Given the description of an element on the screen output the (x, y) to click on. 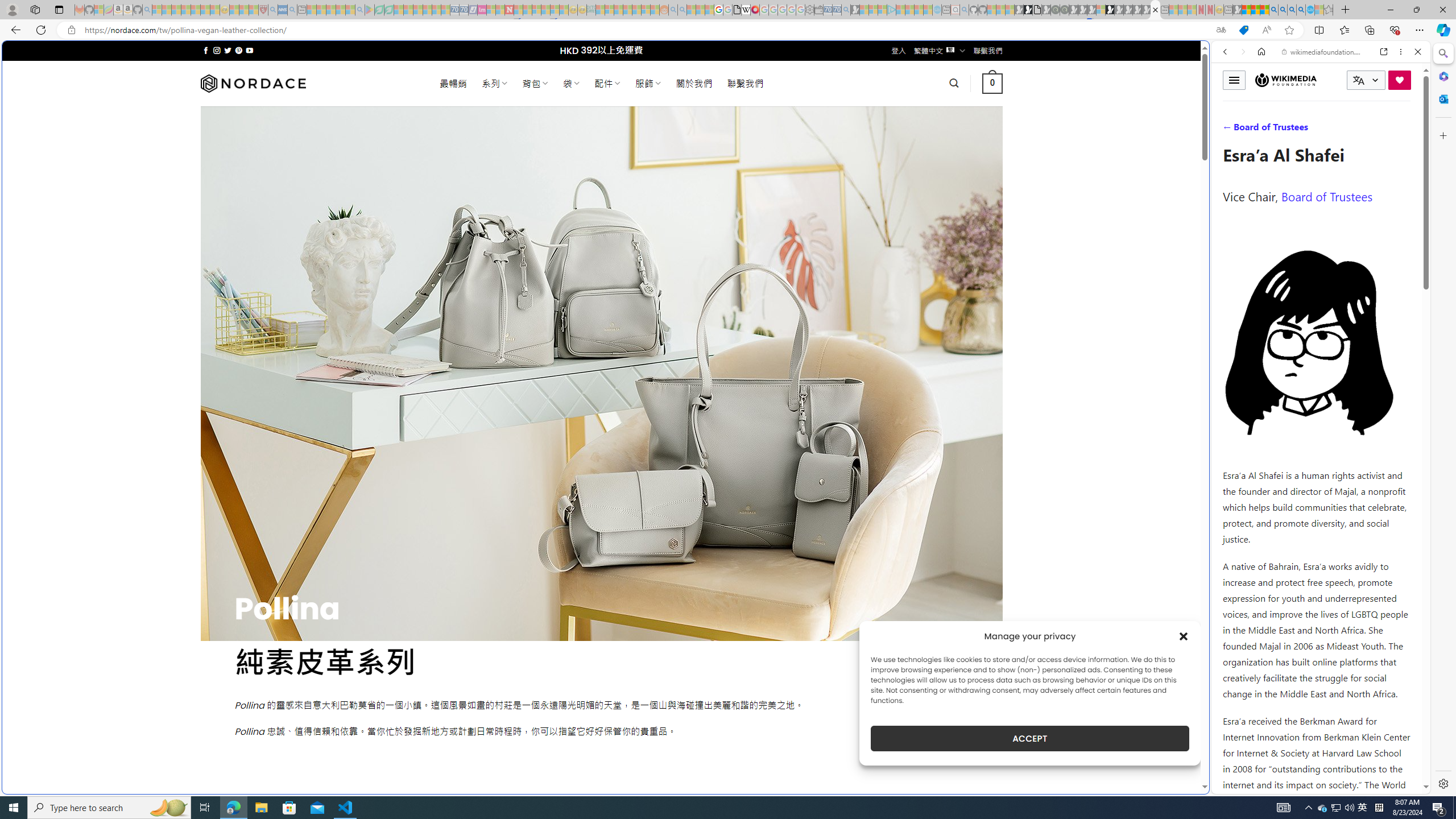
Actions for this site (1370, 583)
Favorites (922, 683)
CURRENT LANGUAGE: (1366, 80)
Microsoft 365 (1442, 76)
Play Cave FRVR in your browser | Games from Microsoft Start (922, 242)
Workspaces (34, 9)
